Given the description of an element on the screen output the (x, y) to click on. 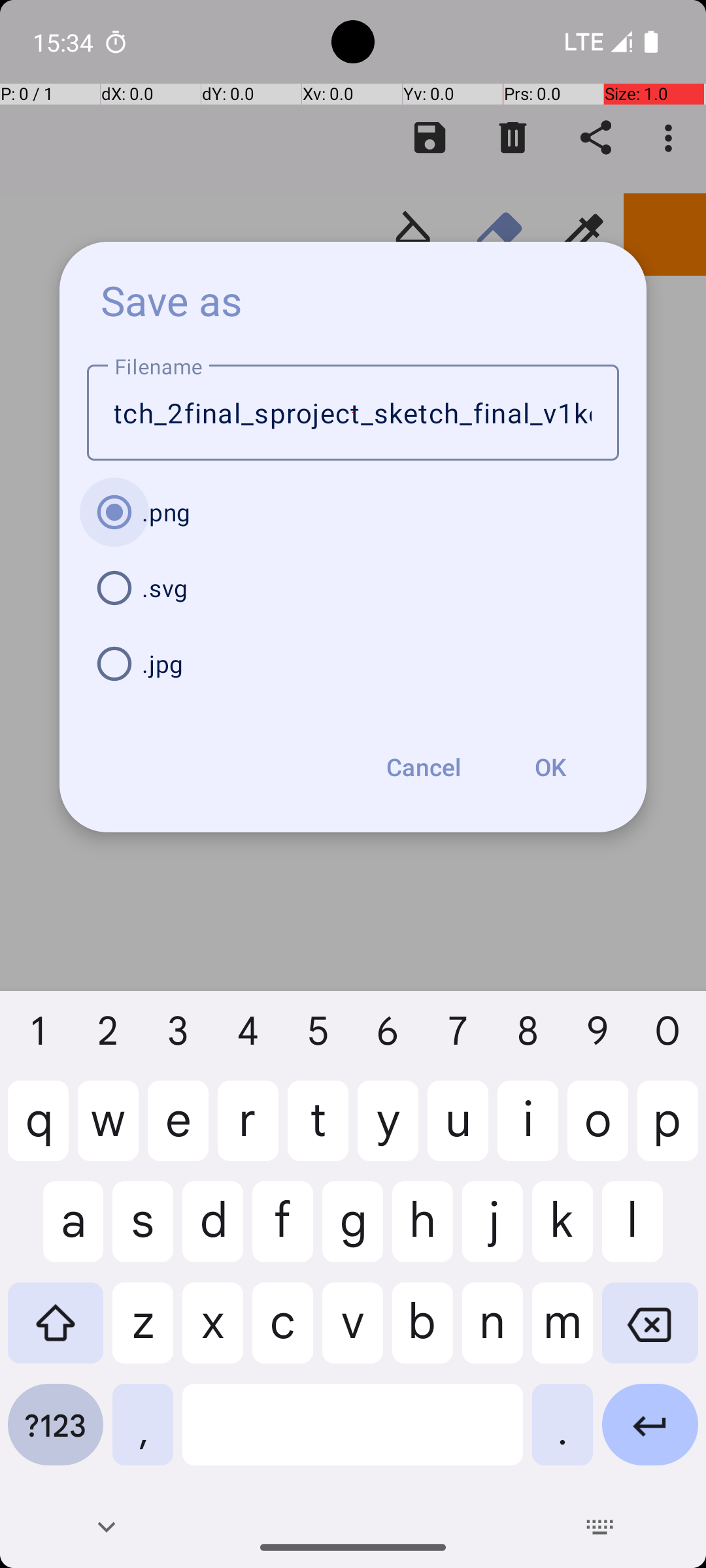
Save as Element type: android.widget.TextView (171, 299)
image_2023_10_1drawdrawing_sketch_2final_sproject_sketch_final_v1ketch_project_v2023_10_01_finaling_sketch_20235_15_34_11 Element type: android.widget.EditText (352, 412)
.png Element type: android.widget.RadioButton (352, 512)
.svg Element type: android.widget.RadioButton (352, 587)
.jpg Element type: android.widget.RadioButton (352, 663)
